Given the description of an element on the screen output the (x, y) to click on. 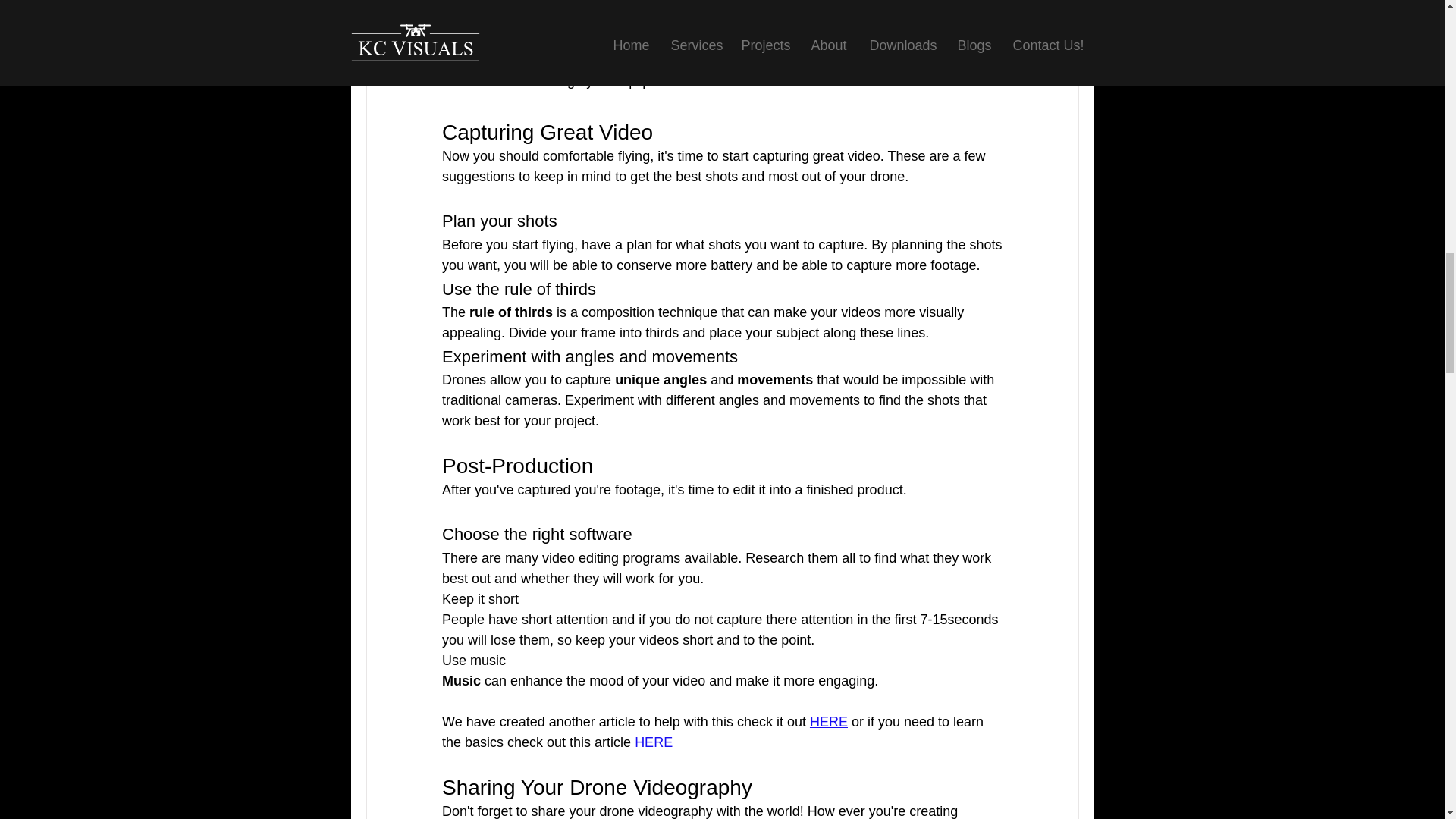
HERE (828, 721)
HERE (653, 742)
